Given the description of an element on the screen output the (x, y) to click on. 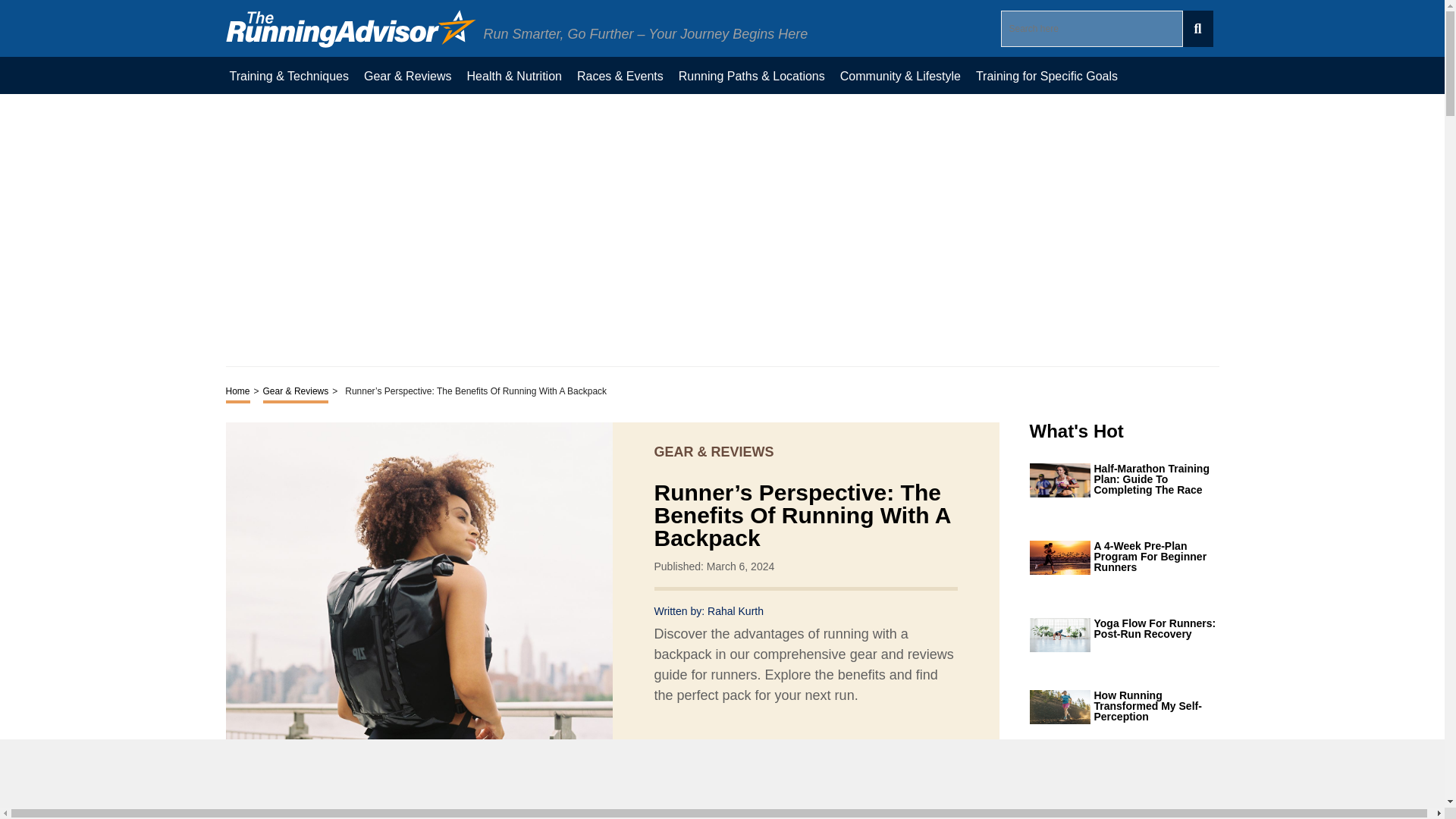
Advertisement (722, 773)
Advertisement (721, 229)
Share on WhatsApp (786, 753)
Share on Twitter (732, 753)
Training for Specific Goals (1046, 74)
Share on Facebook (705, 753)
Share on Pinterest (759, 753)
